Given the description of an element on the screen output the (x, y) to click on. 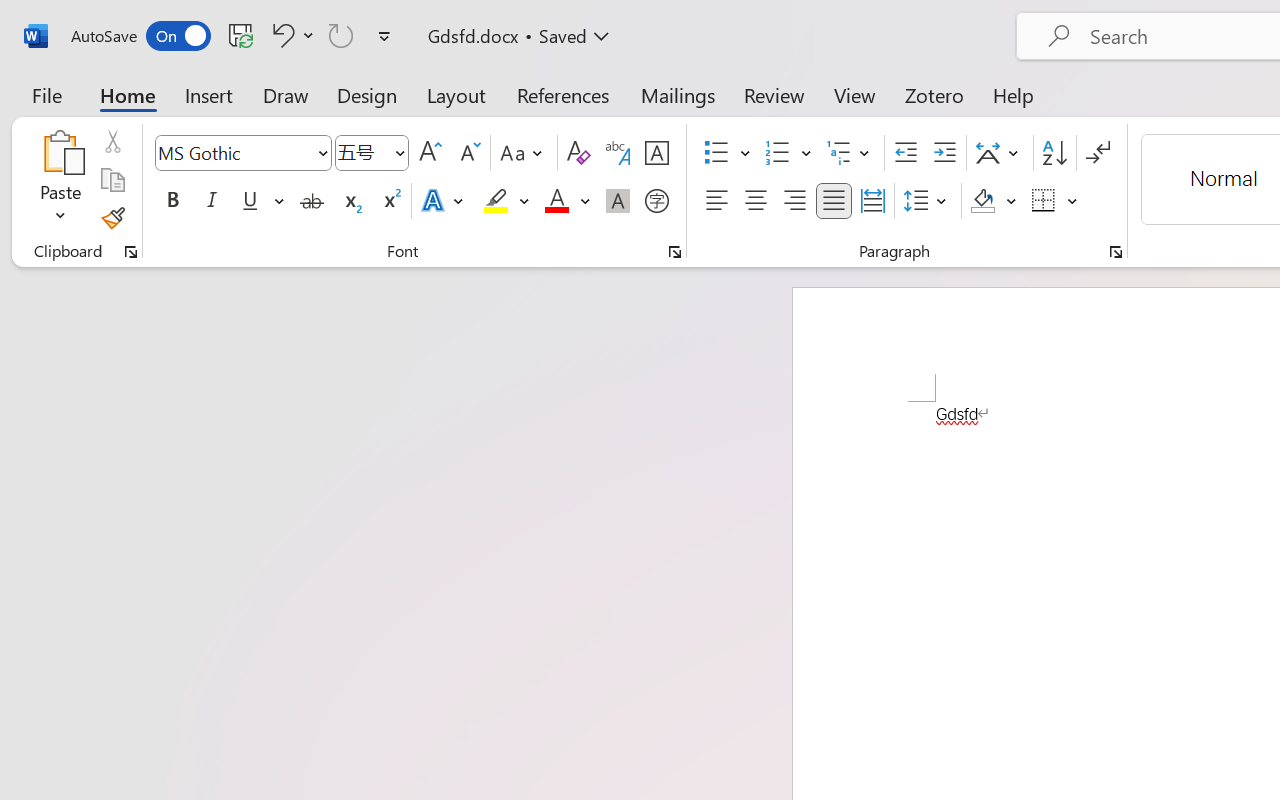
Can't Repeat (341, 35)
